Given the description of an element on the screen output the (x, y) to click on. 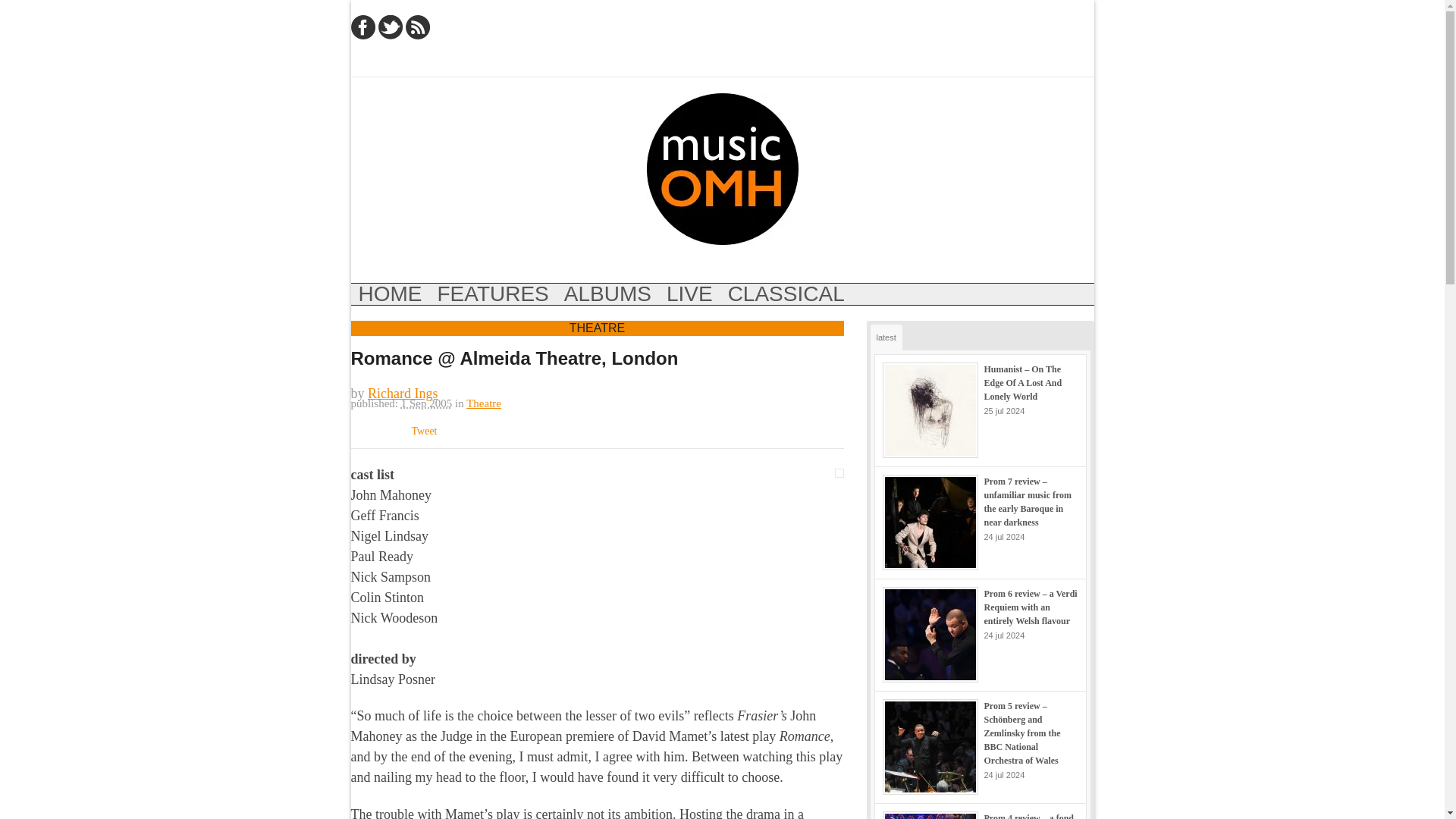
Home (389, 293)
album reviews (607, 293)
Tweet (423, 430)
CLASSICAL (785, 293)
Theatre (482, 403)
Richard Ings (403, 393)
Twitter (389, 27)
Facebook (362, 27)
HOME (389, 293)
music reviews, interviews and features (721, 168)
latest (886, 337)
ALBUMS (607, 293)
romance (838, 472)
features and interviews (492, 293)
live music reviews (689, 293)
